Given the description of an element on the screen output the (x, y) to click on. 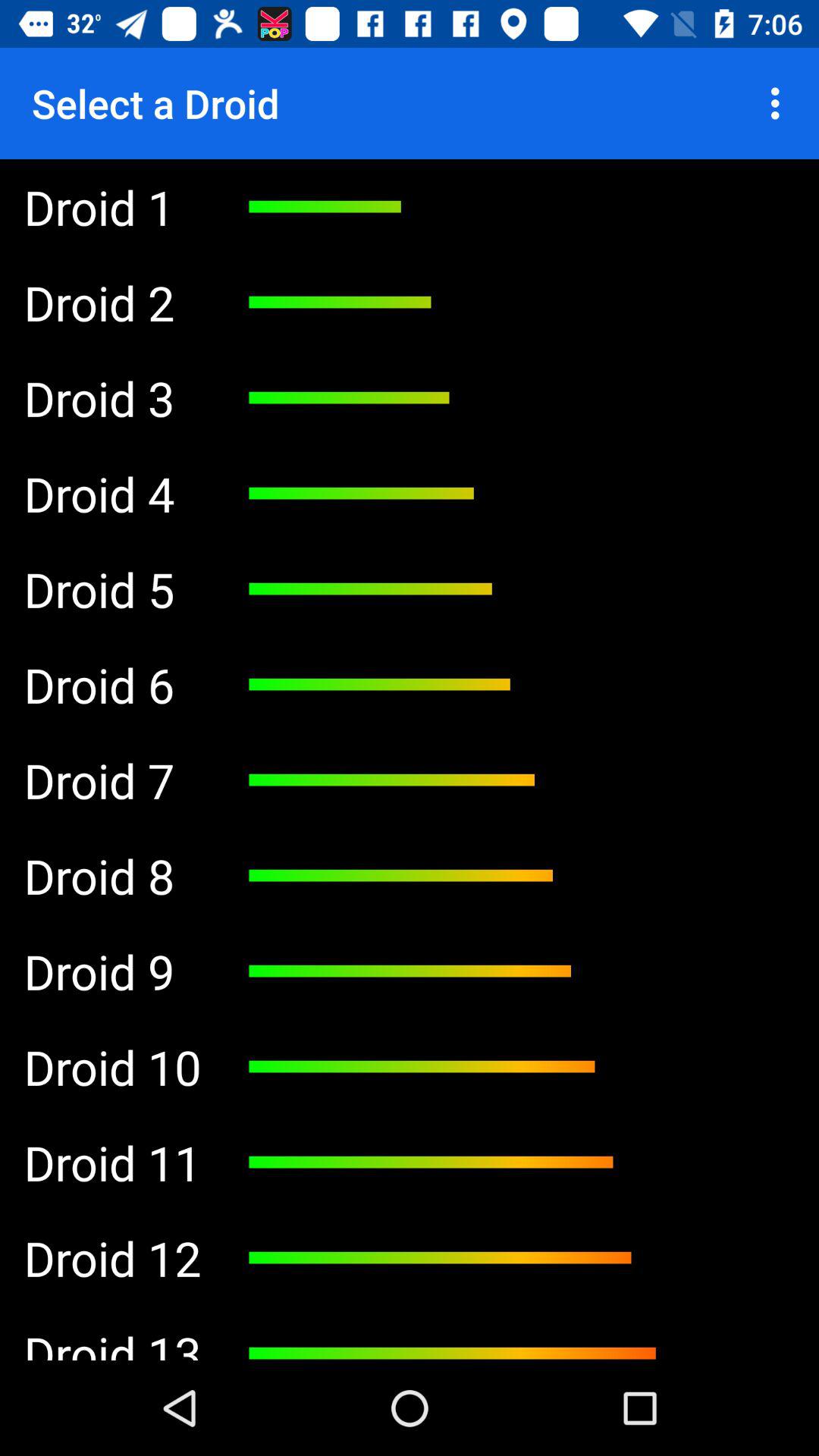
launch app above droid 20 (112, 397)
